Given the description of an element on the screen output the (x, y) to click on. 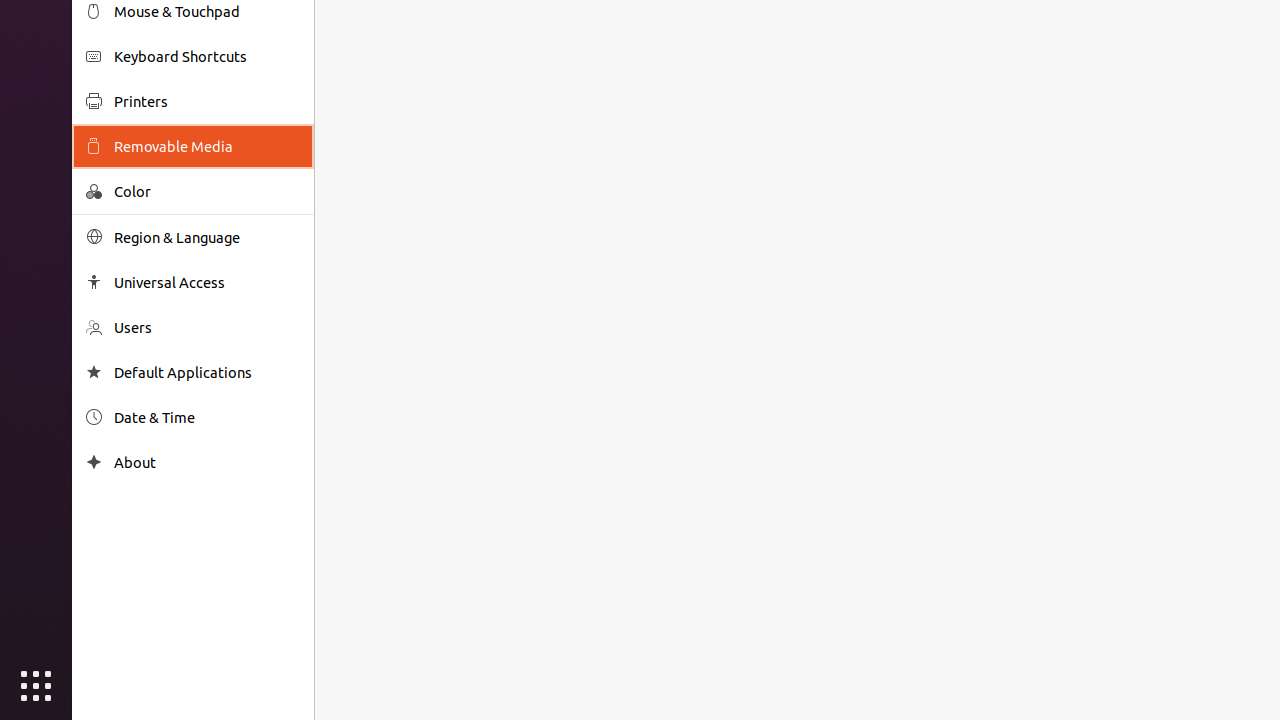
Users Element type: label (207, 327)
About Element type: label (207, 462)
Mouse & Touchpad Element type: label (207, 11)
Printers Element type: label (207, 101)
